Given the description of an element on the screen output the (x, y) to click on. 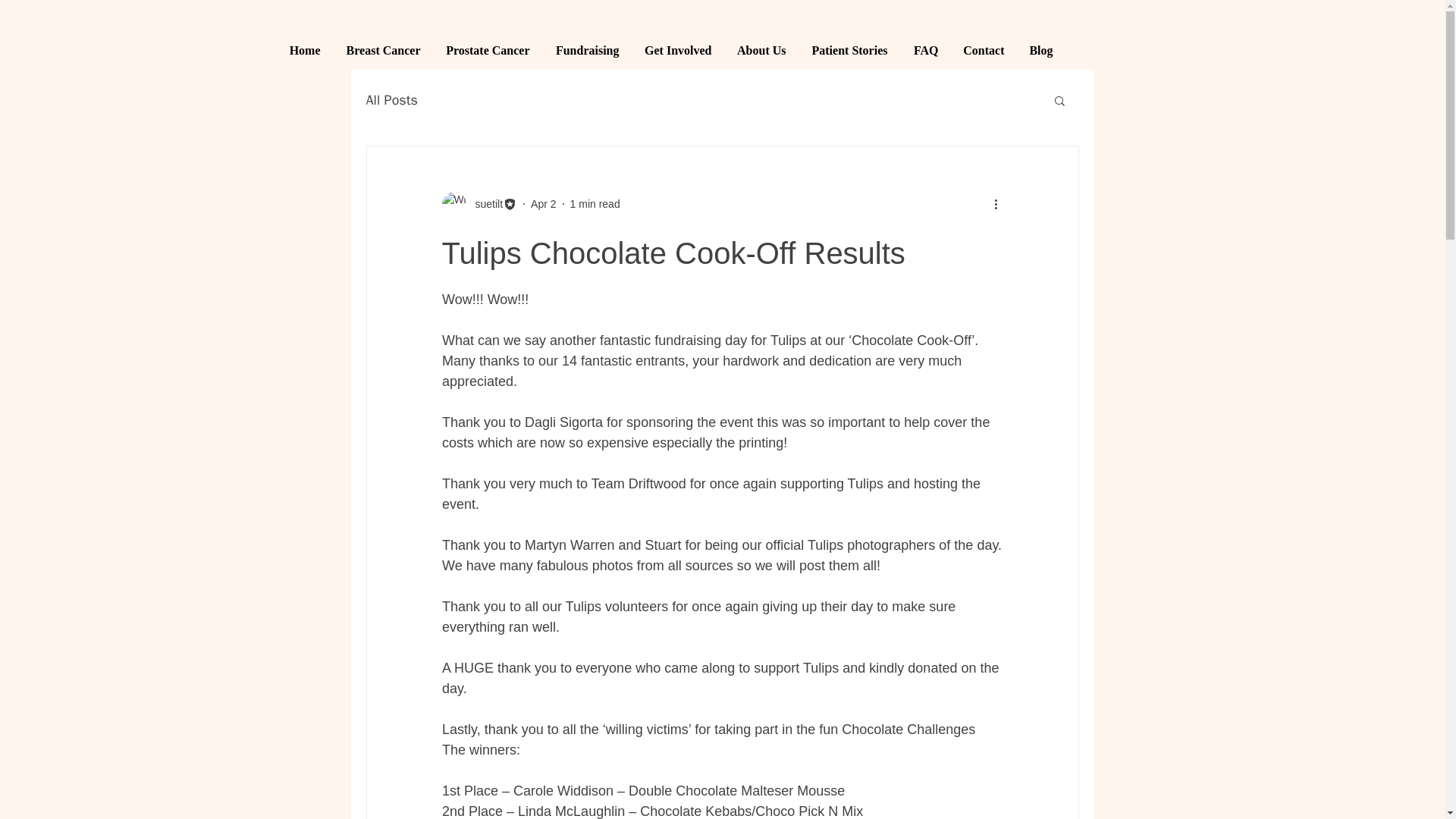
Fundraising (585, 50)
Get Involved (676, 50)
FAQ (924, 50)
Patient Stories (848, 50)
1 min read (595, 203)
Apr 2 (543, 203)
All Posts (390, 99)
Contact (981, 50)
Prostate Cancer (486, 50)
Blog (1040, 50)
Home (303, 50)
Breast Cancer (381, 50)
suetilt (478, 203)
suetilt (483, 203)
About Us (760, 50)
